Given the description of an element on the screen output the (x, y) to click on. 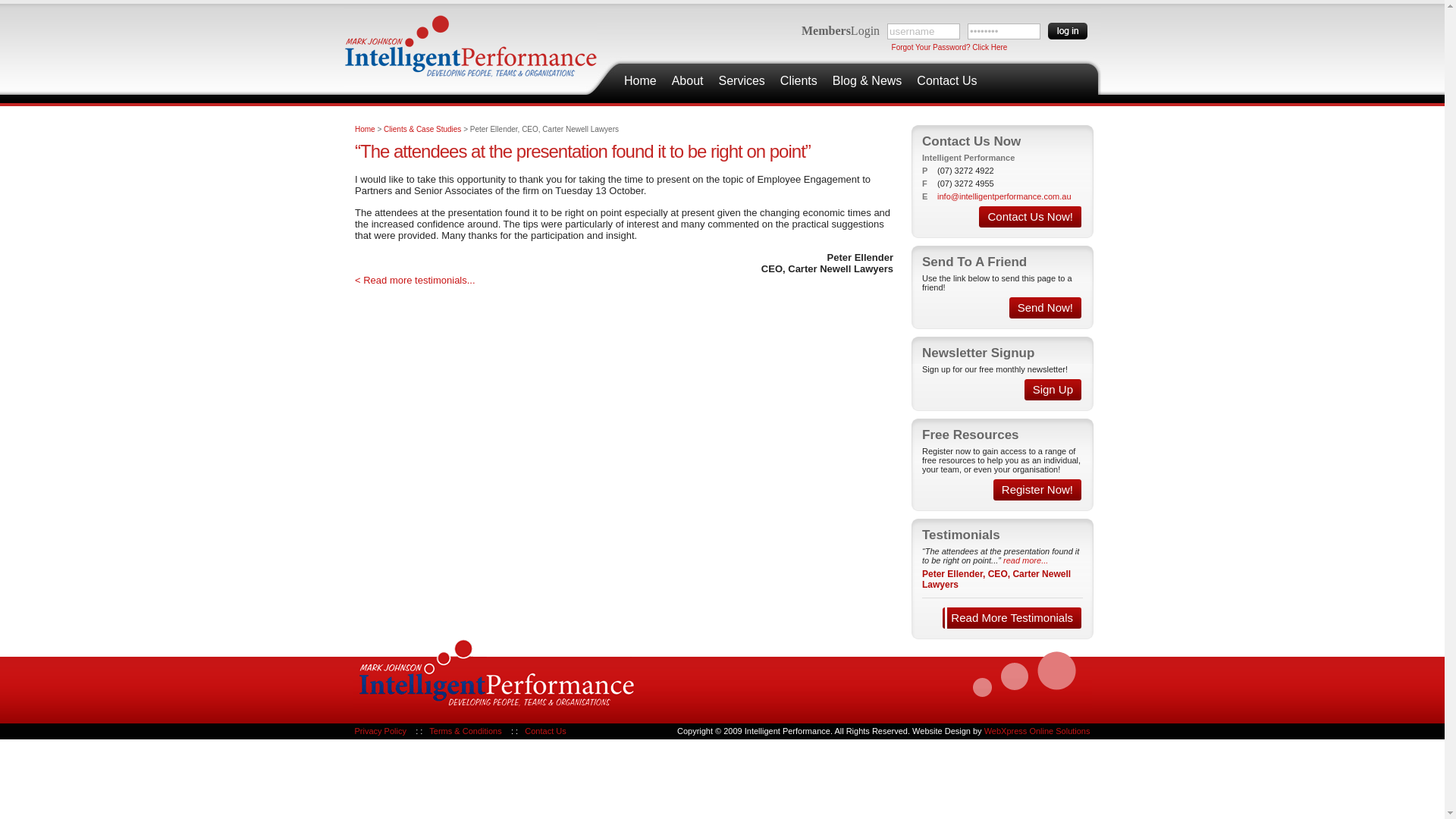
Intelligent Performance Element type: text (469, 44)
Privacy Policy Element type: text (380, 730)
Clients & Case Studies Element type: text (422, 129)
Forgot Your Password? Click Here Element type: text (949, 47)
Services Element type: text (740, 80)
< Read more testimonials... Element type: text (414, 279)
read more... Element type: text (1025, 559)
Contact Us Now! Element type: text (1030, 216)
Terms & Conditions Element type: text (465, 730)
About Element type: text (687, 80)
info@intelligentperformance.com.au Element type: text (1004, 195)
Contact Us Element type: text (544, 730)
Read More Testimonials Element type: text (1011, 617)
Home Element type: text (639, 80)
Clients Element type: text (798, 80)
Contact Us Element type: text (946, 80)
Home Element type: text (364, 129)
Register Now! Element type: text (1037, 489)
WebXpress Online Solutions Element type: text (1037, 730)
Sign Up Element type: text (1052, 389)
Blog & News Element type: text (867, 80)
Send Now! Element type: text (1045, 307)
